Given the description of an element on the screen output the (x, y) to click on. 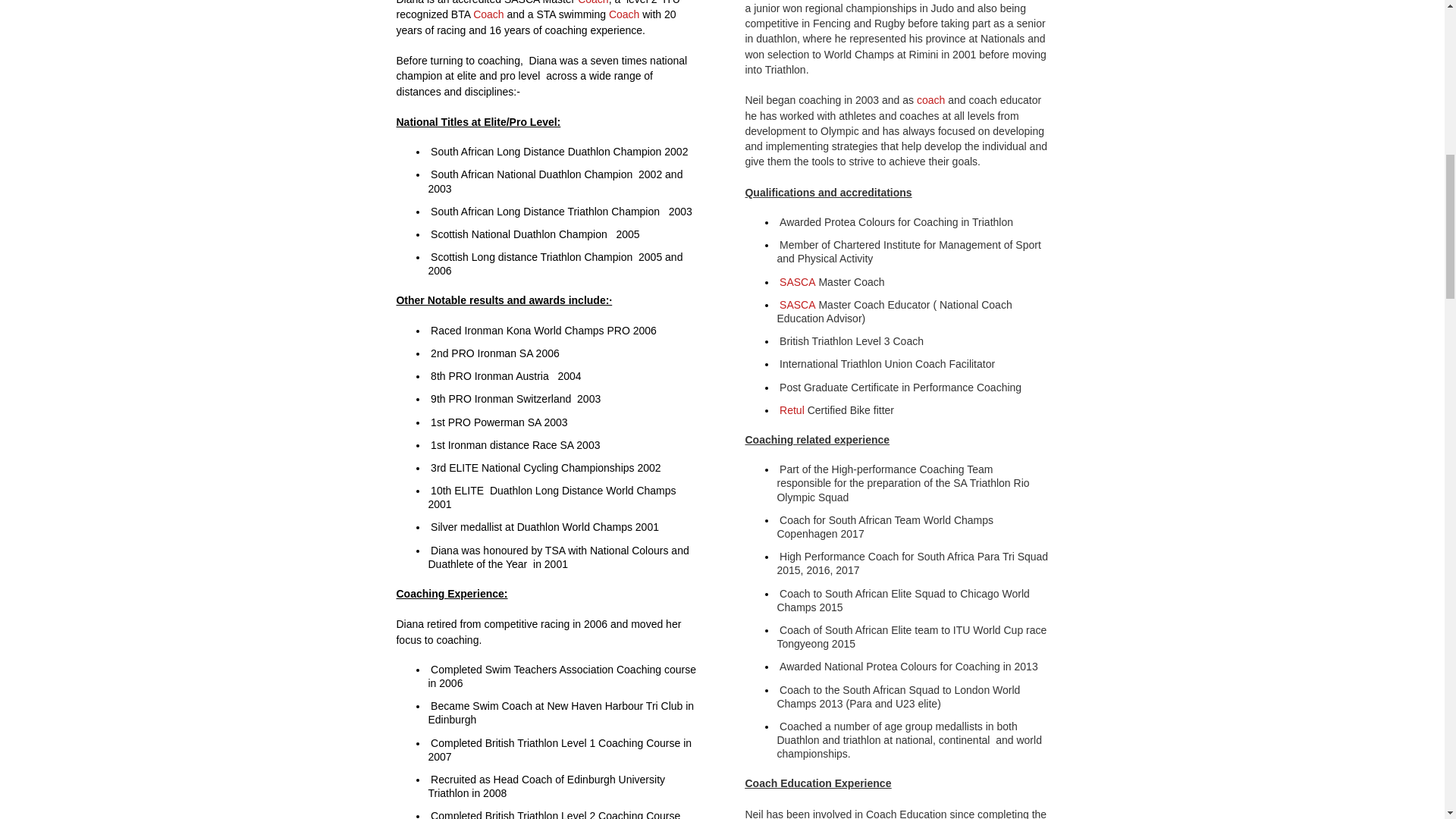
Coach (593, 2)
